Given the description of an element on the screen output the (x, y) to click on. 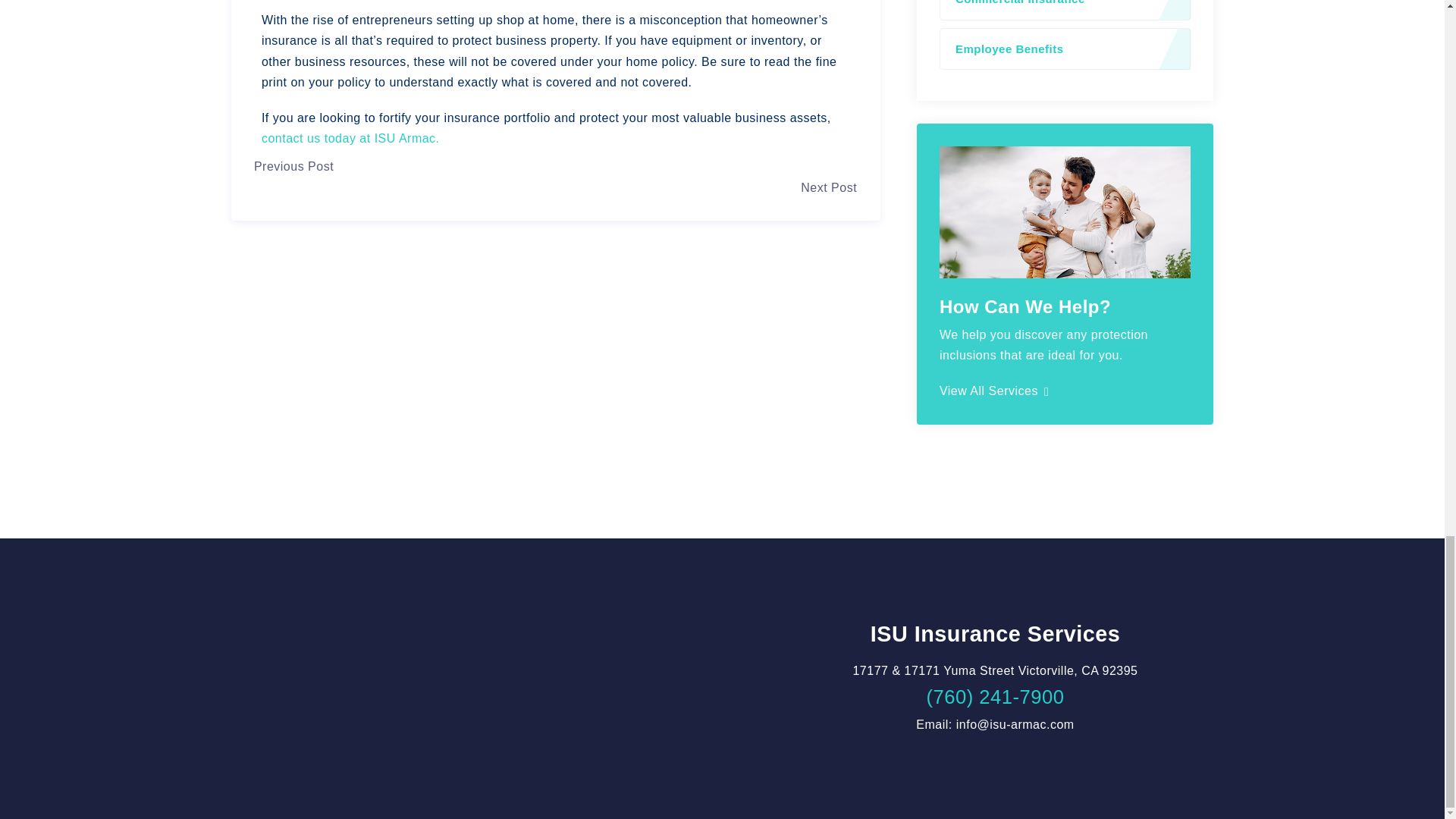
contact us today at ISU Armac. (350, 137)
Previous Post (293, 165)
Call Us! (995, 697)
Next Post (828, 187)
